Given the description of an element on the screen output the (x, y) to click on. 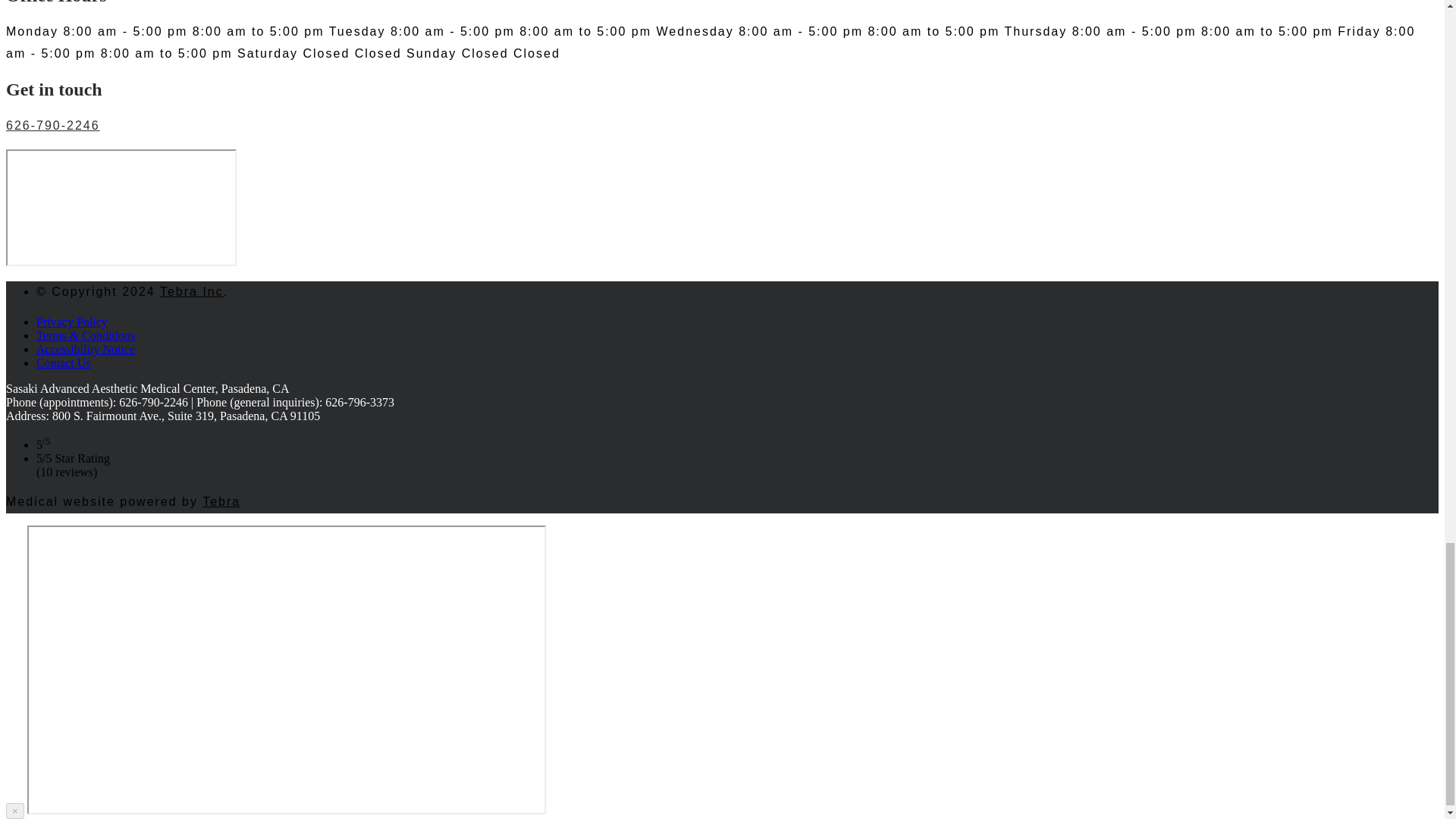
Map of Pasadena (120, 207)
